Given the description of an element on the screen output the (x, y) to click on. 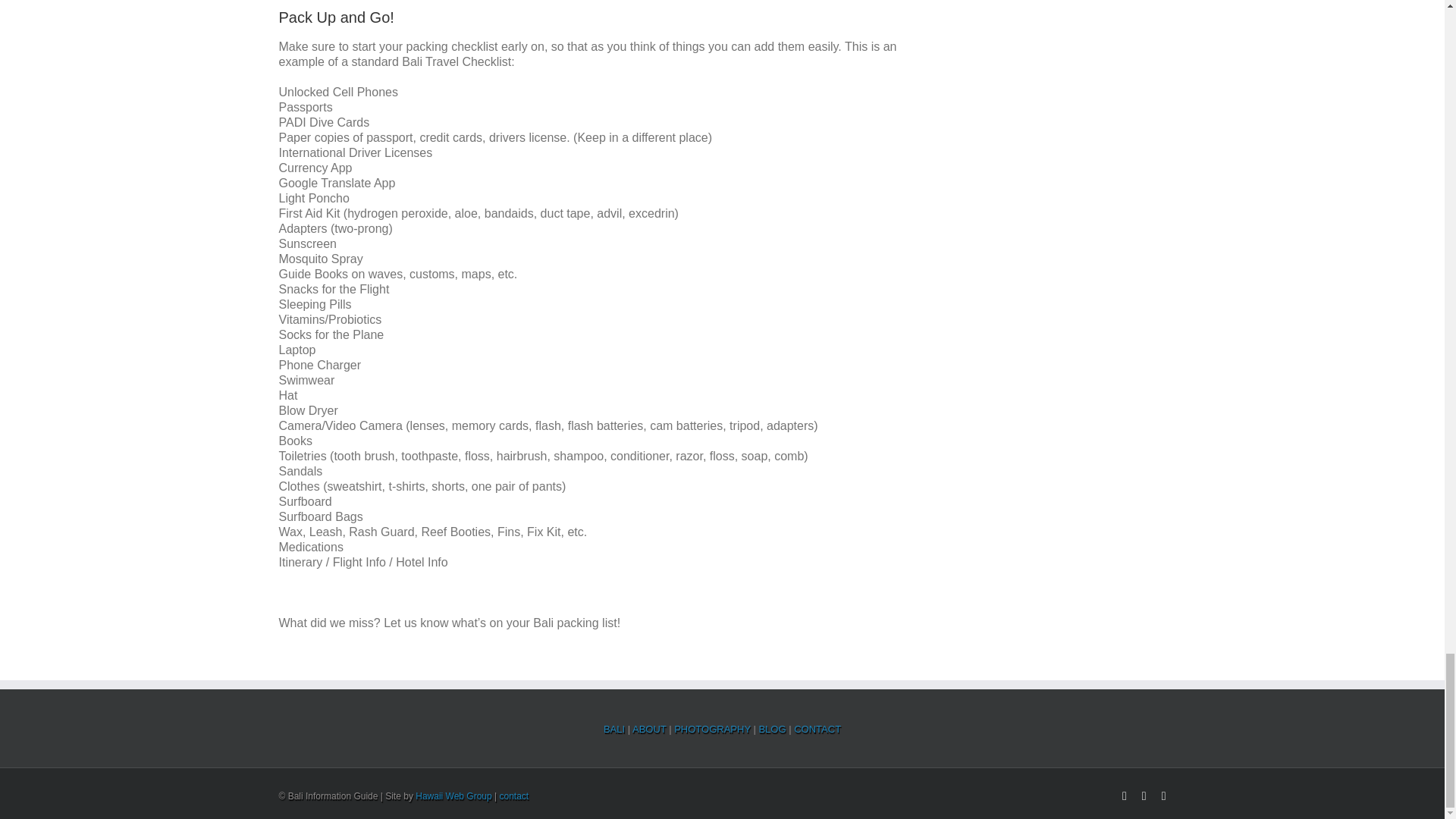
ABOUT (649, 728)
BLOG (773, 728)
PHOTOGRAPHY (713, 728)
BALI (615, 728)
